Given the description of an element on the screen output the (x, y) to click on. 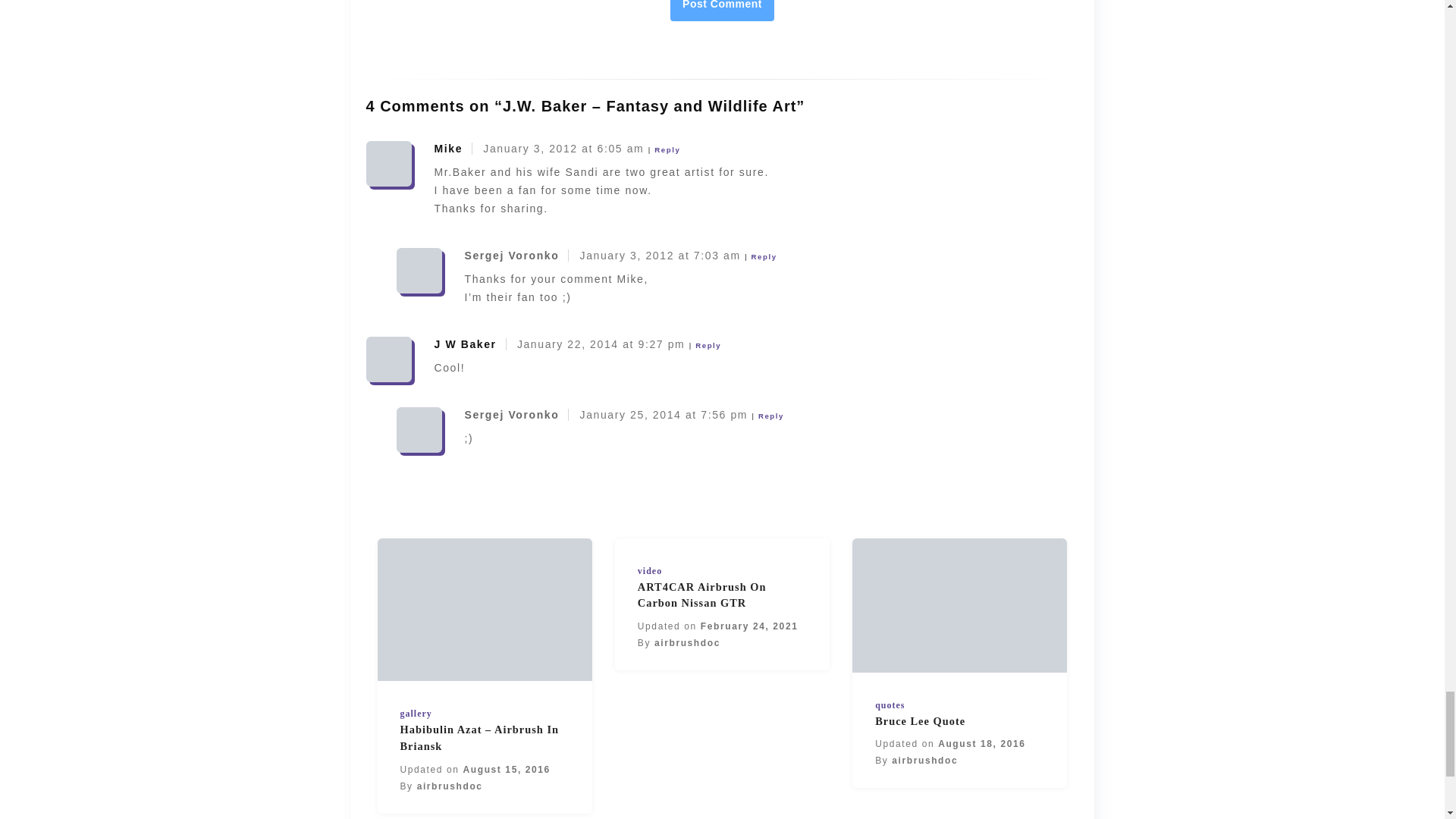
Post Comment (721, 10)
